Given the description of an element on the screen output the (x, y) to click on. 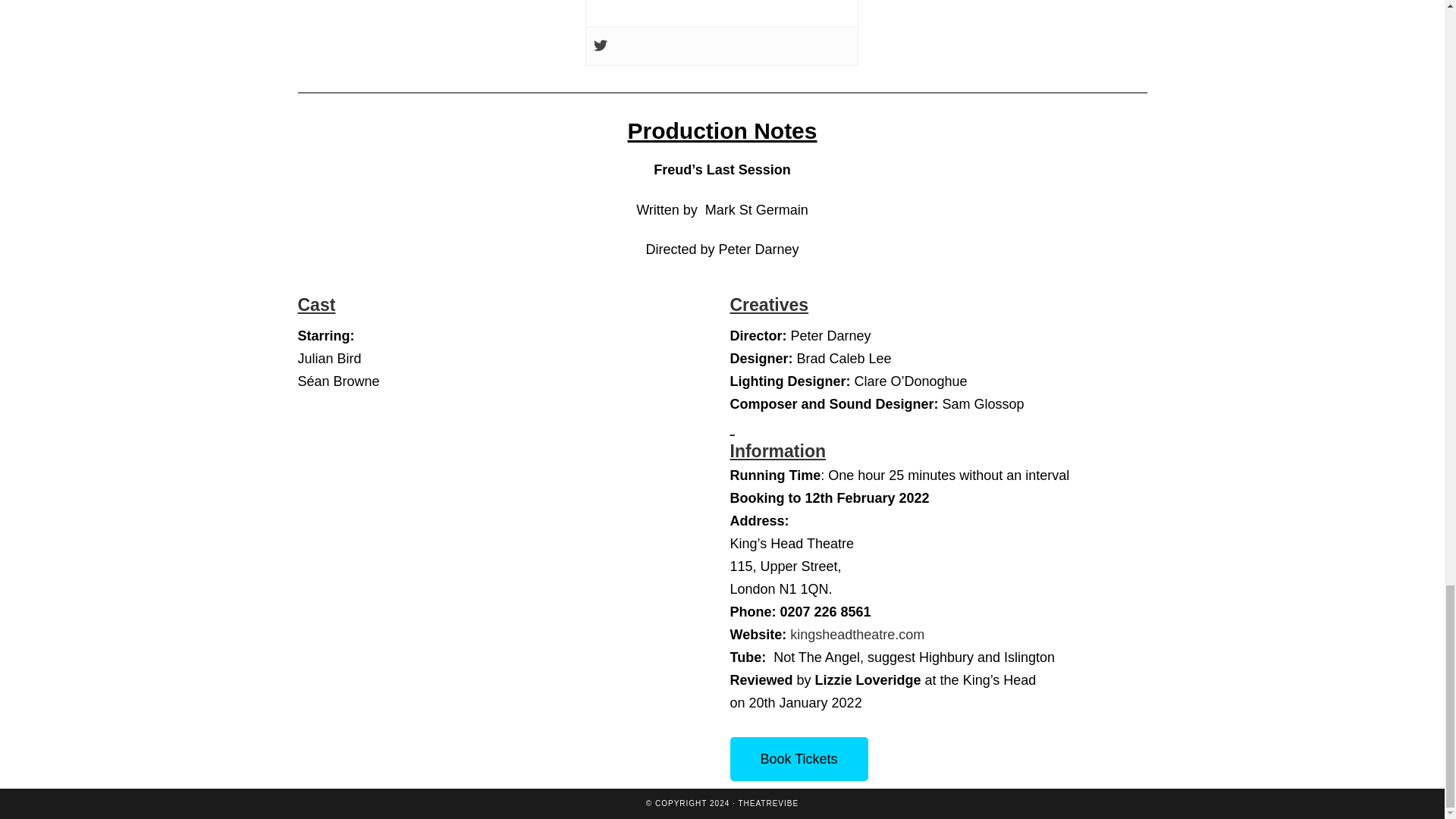
kingsheadtheatre.com (857, 634)
Twitter (600, 46)
Book Tickets (798, 759)
